Given the description of an element on the screen output the (x, y) to click on. 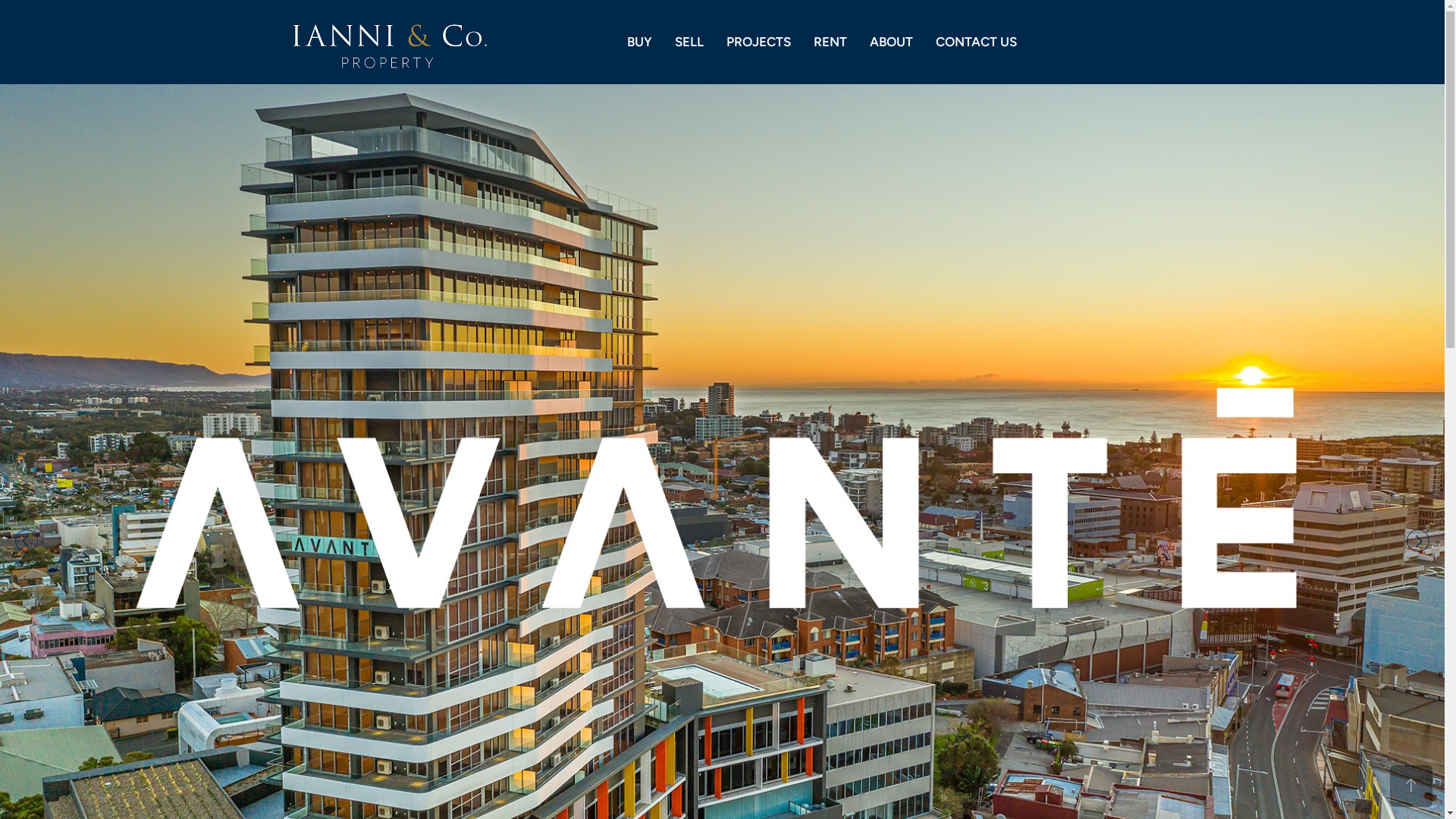
ABOUT Element type: text (891, 41)
RENT Element type: text (830, 41)
SELL Element type: text (689, 41)
BUY Element type: text (639, 41)
CONTACT US Element type: text (976, 41)
PROJECTS Element type: text (758, 41)
